Given the description of an element on the screen output the (x, y) to click on. 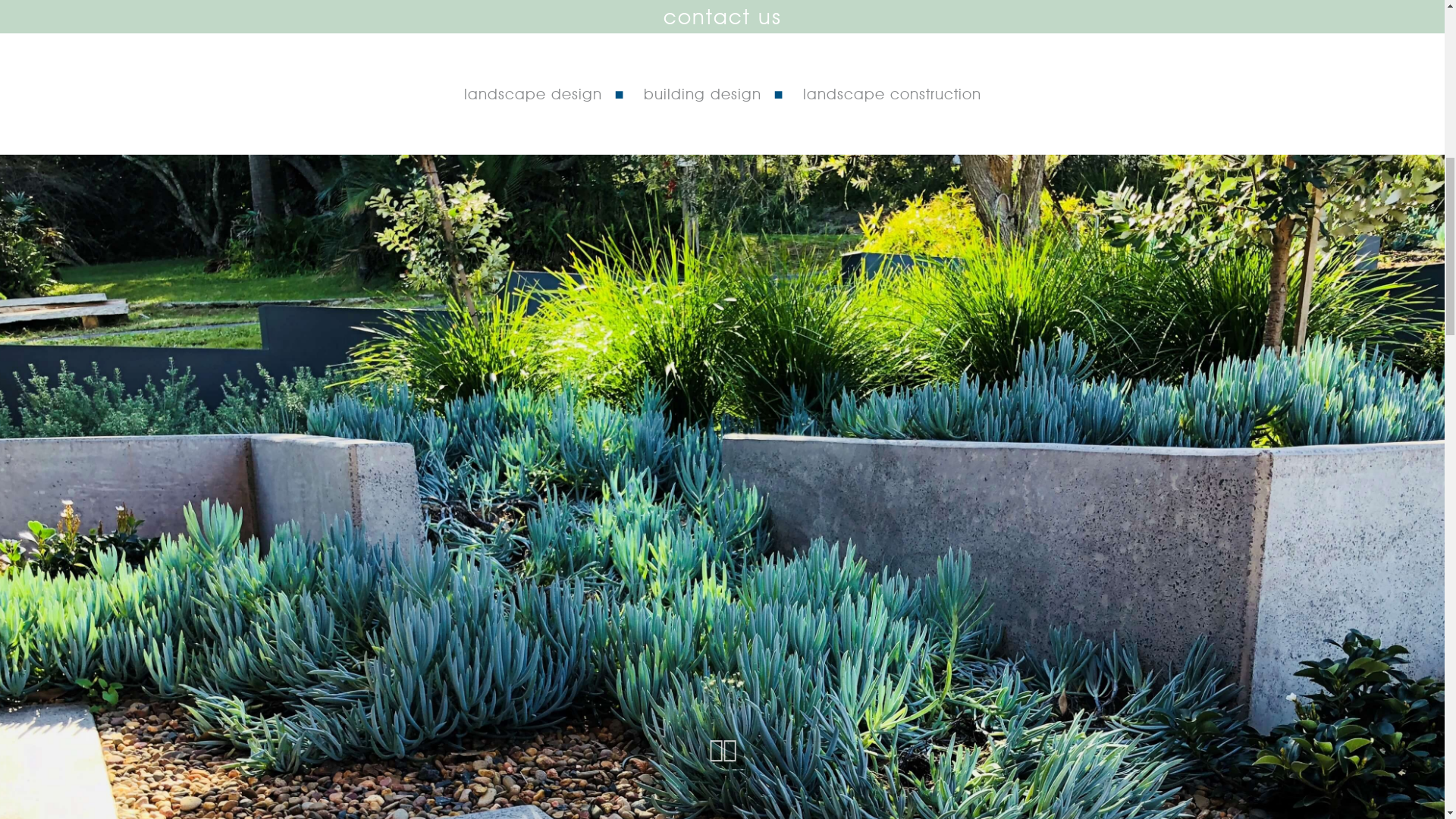
landscape construction Element type: text (891, 773)
building design Element type: text (701, 773)
landscape design Element type: text (533, 773)
